Given the description of an element on the screen output the (x, y) to click on. 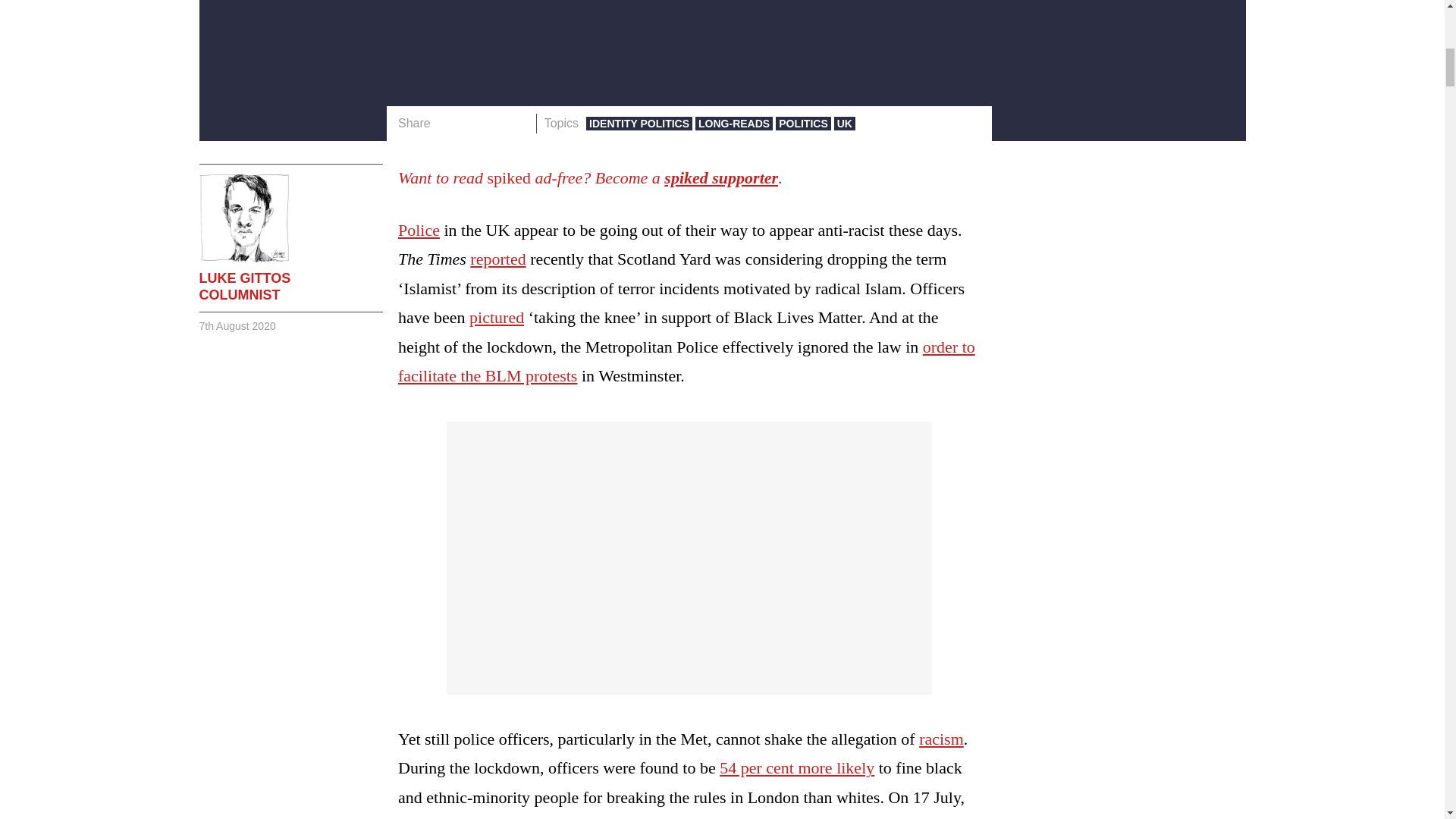
Share on Email (518, 123)
Share on Twitter (471, 123)
Share on Whatsapp (494, 123)
Share on Facebook (448, 123)
